Given the description of an element on the screen output the (x, y) to click on. 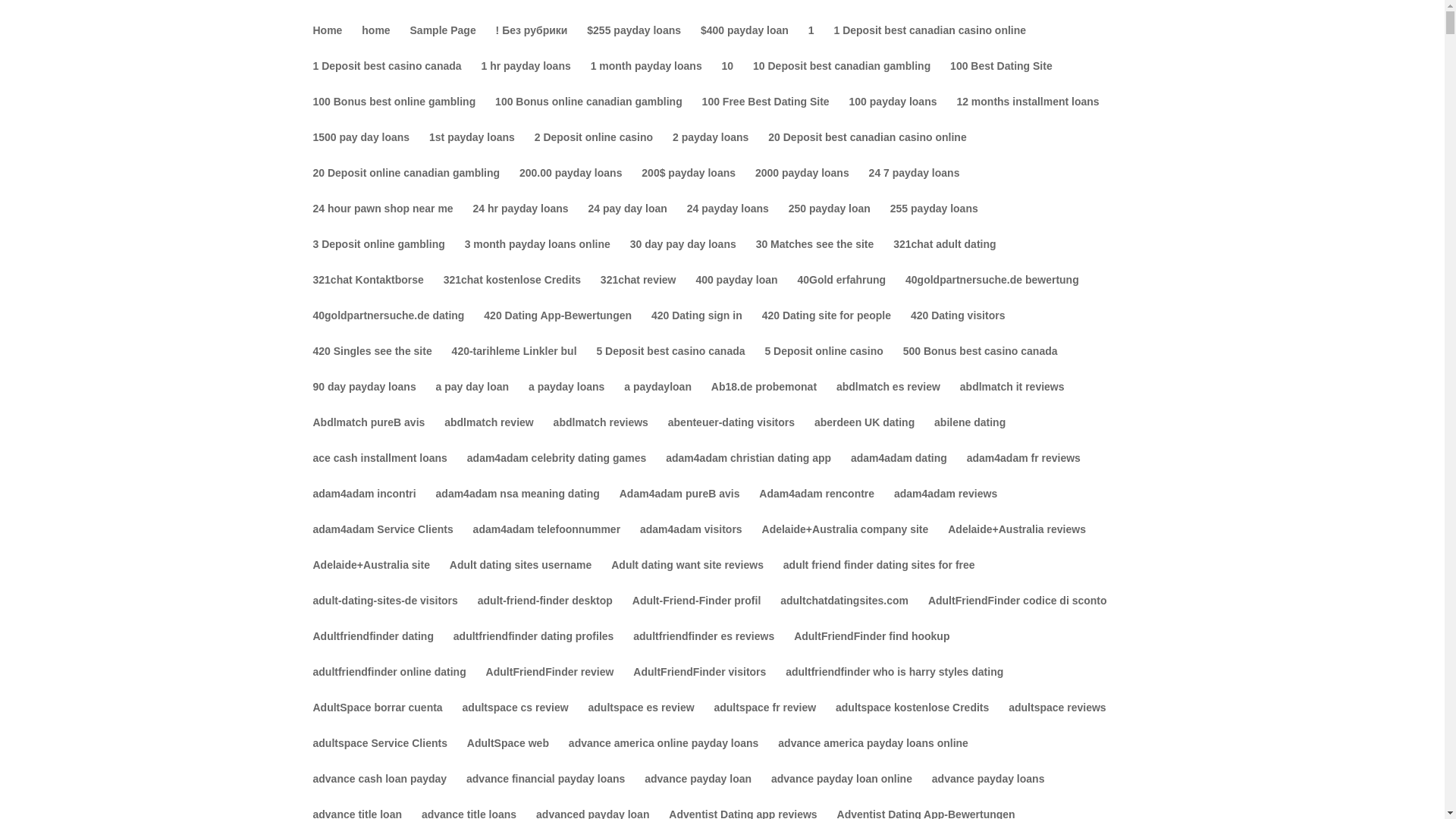
250 payday loan (829, 221)
2000 payday loans (801, 185)
30 day pay day loans (683, 256)
24 7 payday loans (914, 185)
3 Deposit online gambling (378, 256)
24 pay day loan (627, 221)
20 Deposit online canadian gambling (406, 185)
100 Free Best Dating Site (765, 113)
Posts by admin (340, 165)
24 payday loans (727, 221)
